Given the description of an element on the screen output the (x, y) to click on. 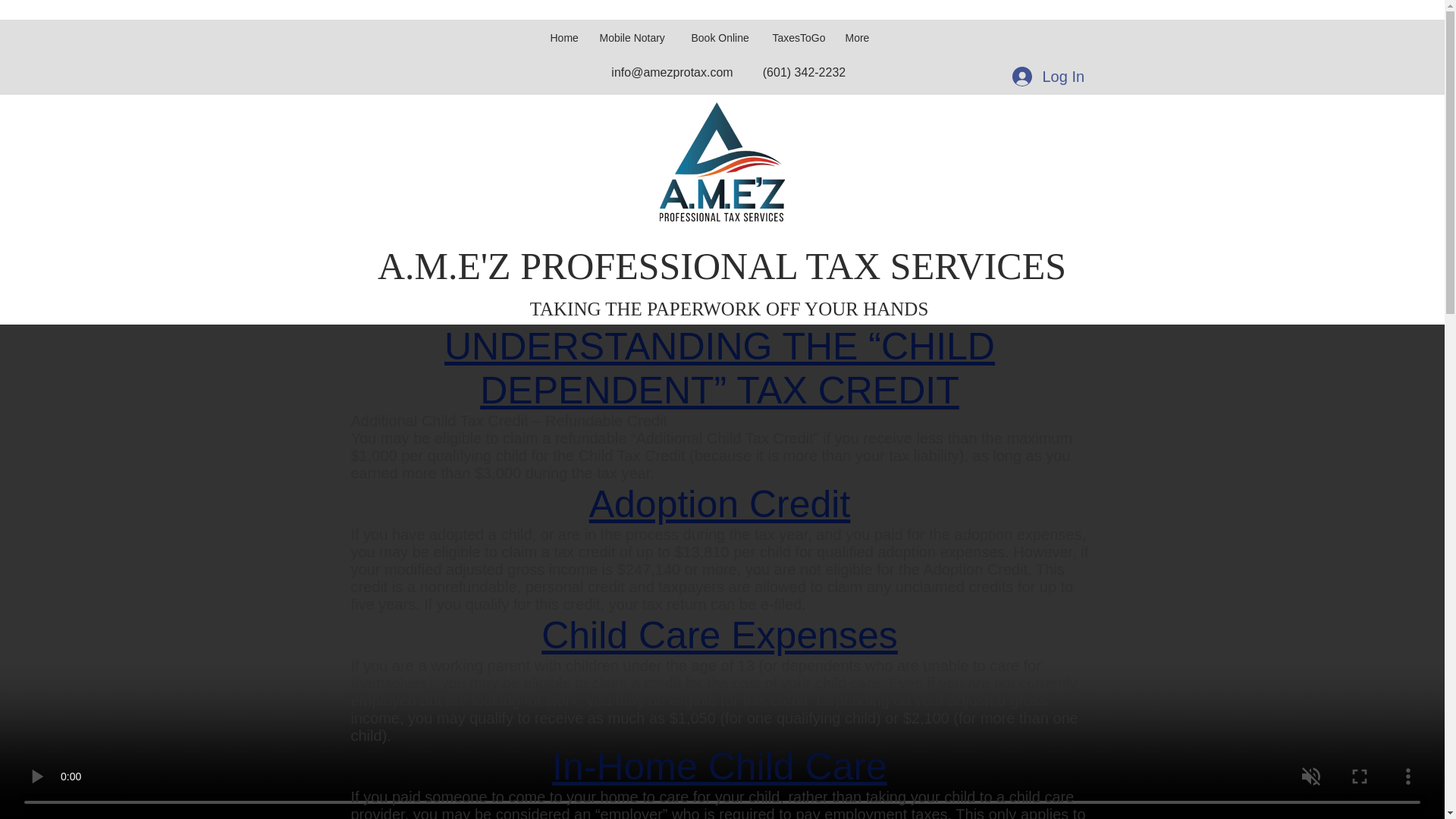
Mobile Notary (635, 30)
Book Online (721, 30)
Log In (1046, 76)
Home (564, 30)
TaxesToGo (798, 30)
